Given the description of an element on the screen output the (x, y) to click on. 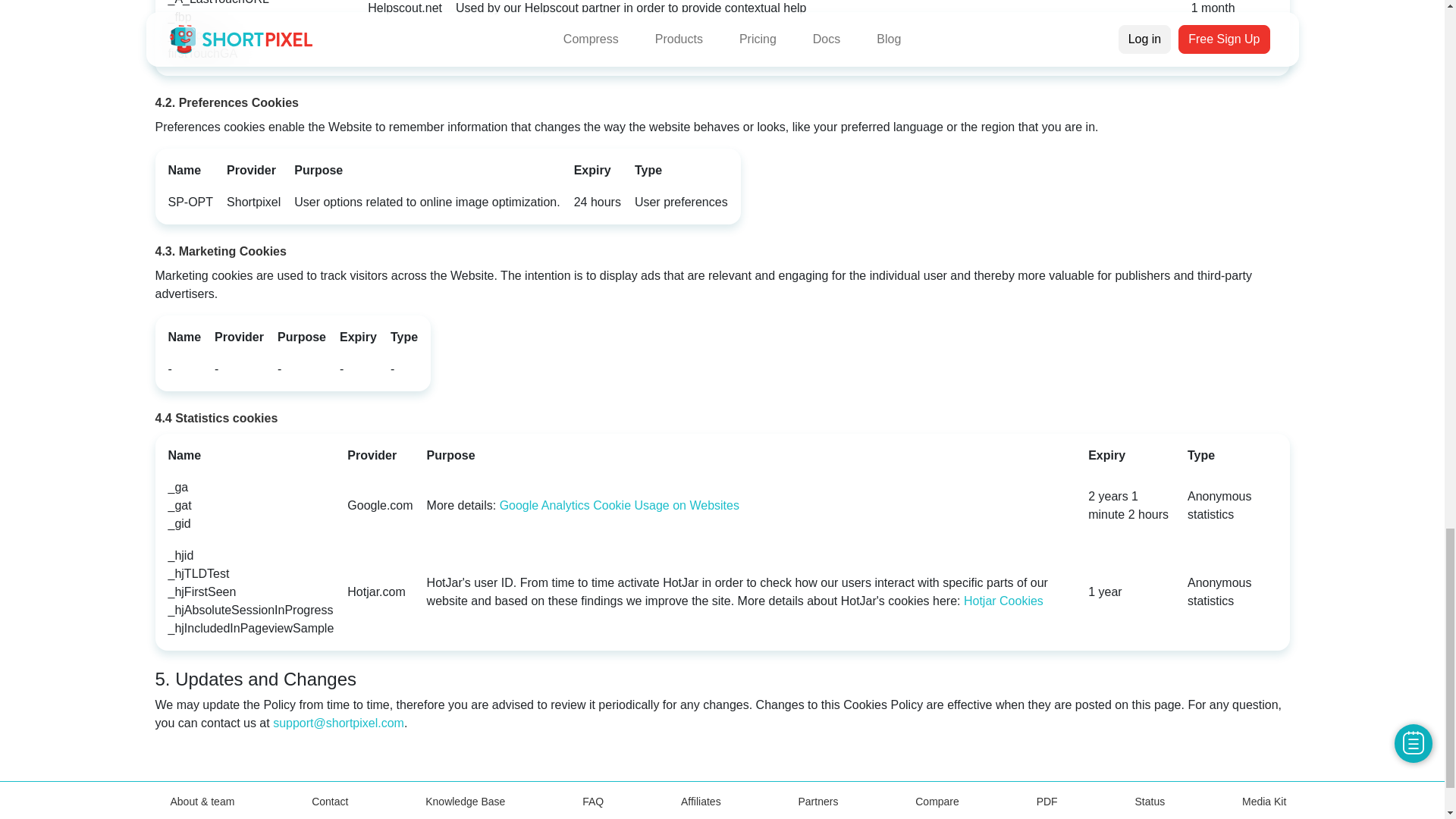
Compare (937, 801)
Affiliates (700, 801)
Contact (329, 801)
PDF (1047, 801)
Google Analytics Cookie Usage on Websites (619, 504)
Knowledge Base (465, 801)
Media Kit (1263, 801)
Status (1149, 801)
Partners (817, 801)
Hotjar Cookies (1003, 600)
